Given the description of an element on the screen output the (x, y) to click on. 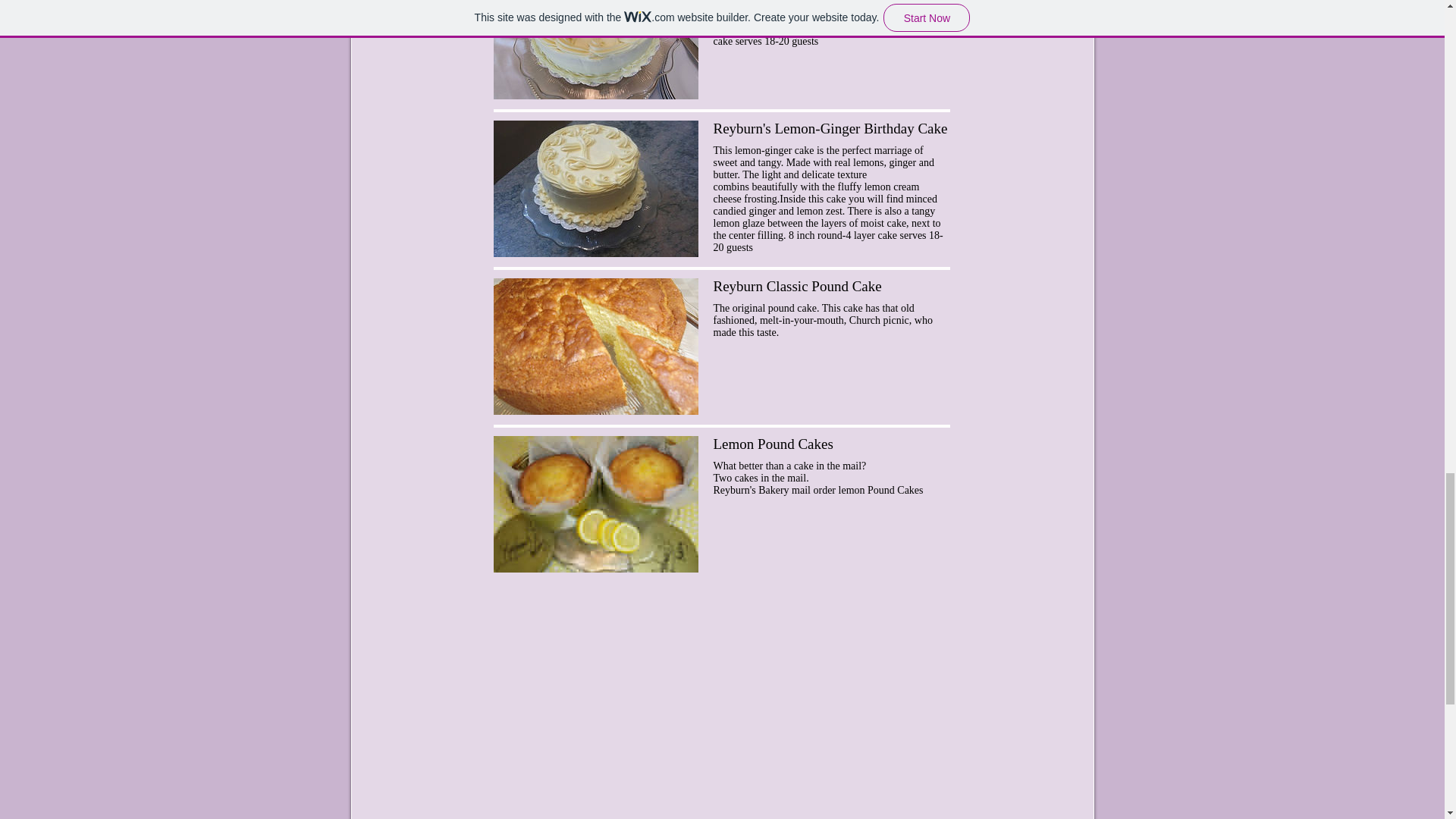
GEDC0677.JPG (595, 503)
GEDC1177.JPG (595, 346)
Reyburns Lemon Cake with Lemon Cream Cheese Frosting.jpg (595, 49)
